Given the description of an element on the screen output the (x, y) to click on. 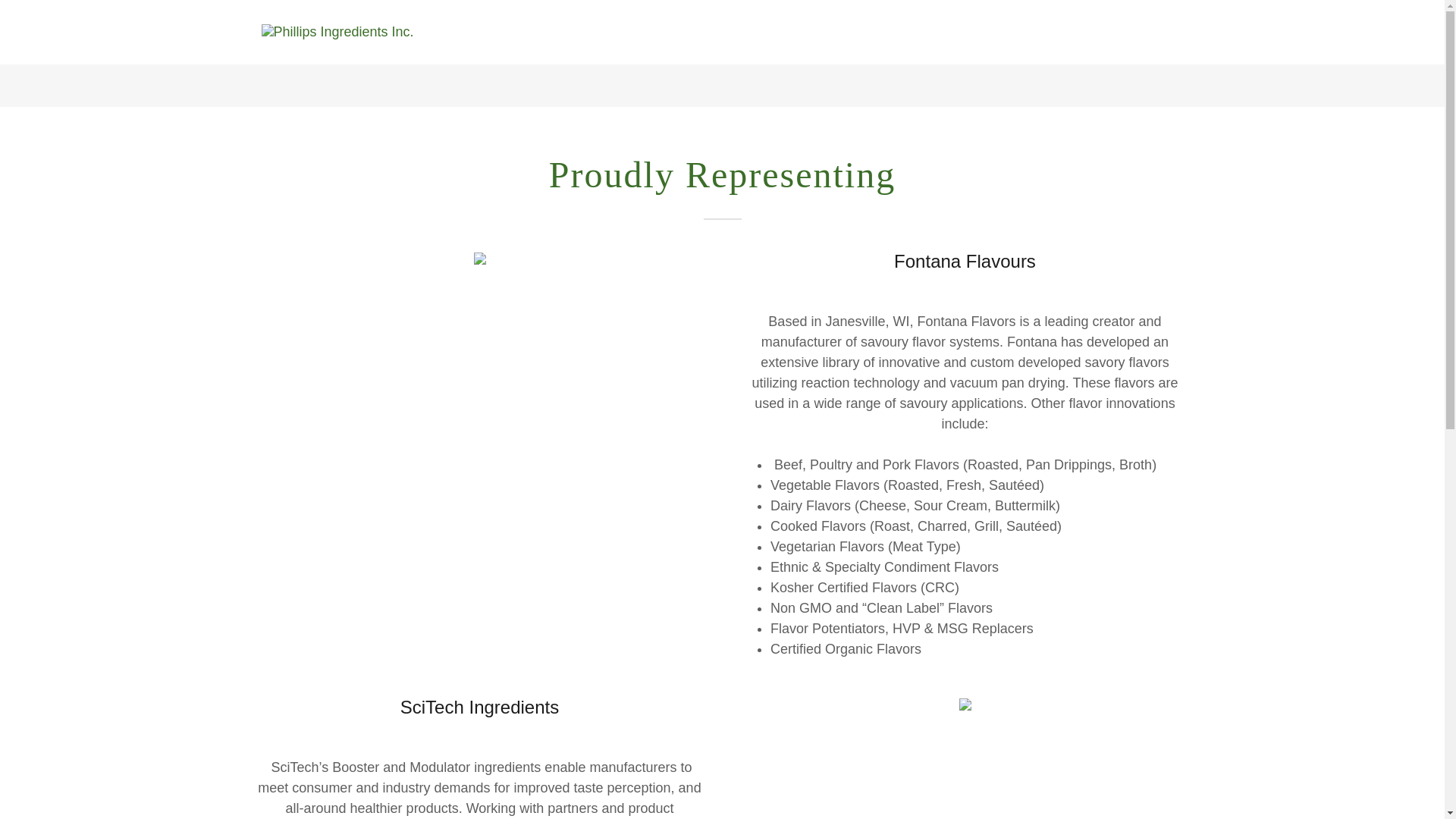
Phillips Ingredients Inc. (336, 30)
